Given the description of an element on the screen output the (x, y) to click on. 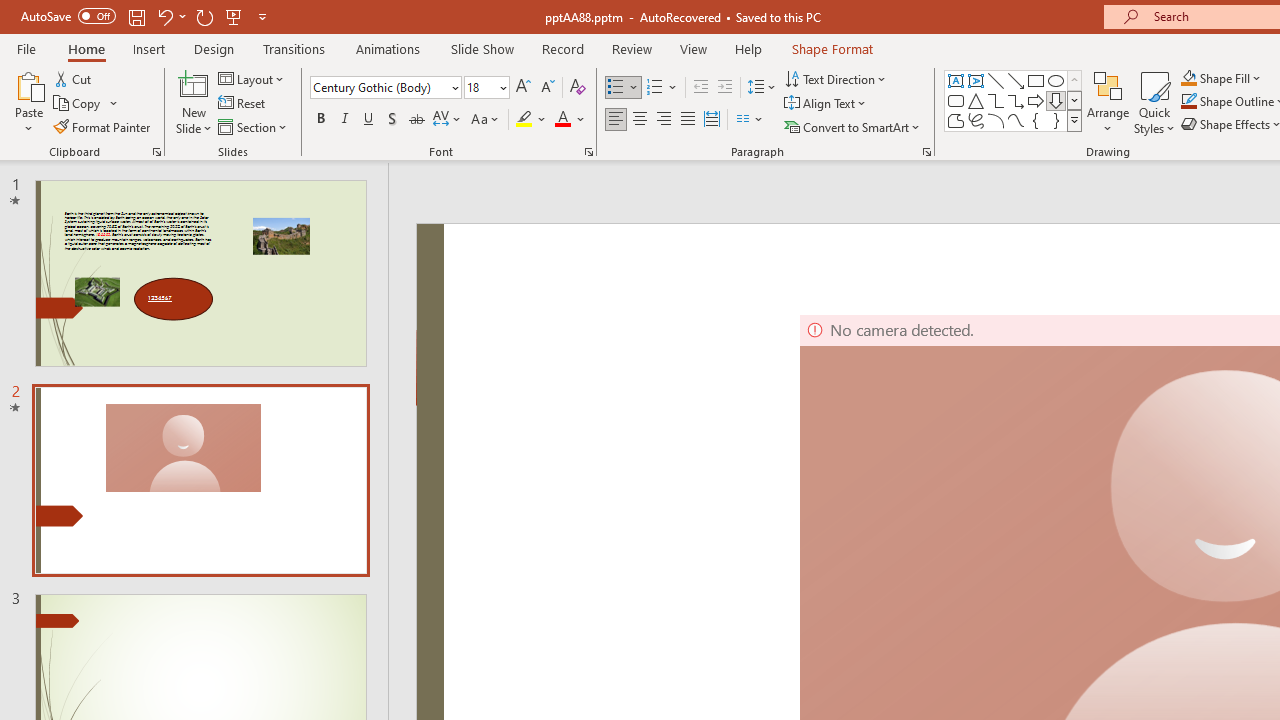
Slide Show (481, 48)
Paragraph... (926, 151)
Reset (243, 103)
Justify (687, 119)
Arc (995, 120)
Insert (149, 48)
Bullets (623, 87)
Font (379, 87)
System (10, 11)
Office Clipboard... (156, 151)
Shapes (1074, 120)
Convert to SmartArt (853, 126)
Text Box (955, 80)
Increase Font Size (522, 87)
New Slide (193, 84)
